Given the description of an element on the screen output the (x, y) to click on. 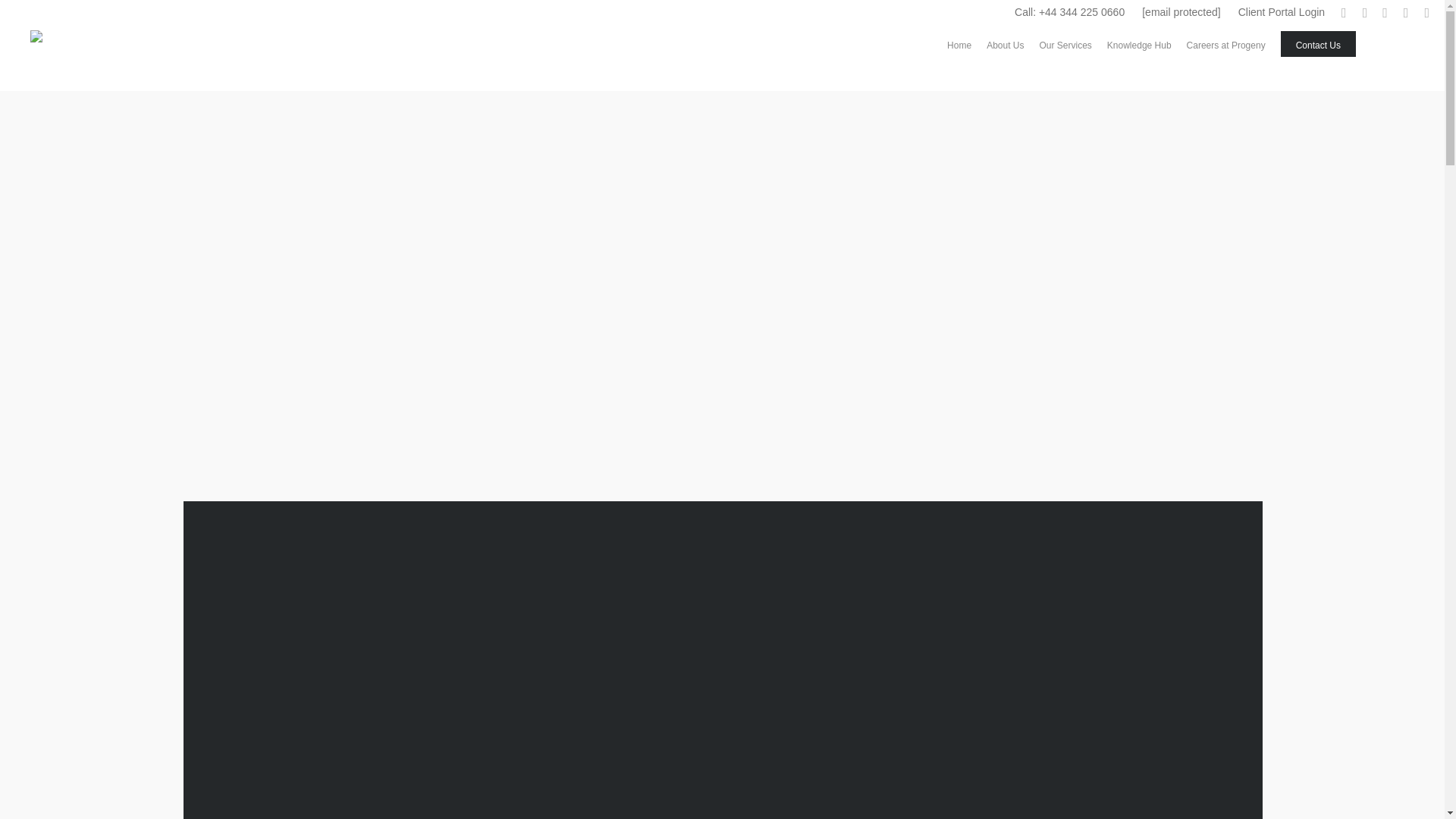
Client Portal Login (1281, 12)
Call Progeny now (1069, 12)
Email Progeny now (1181, 12)
Click here to log in to the Progeny Client Portal (1281, 12)
